Given the description of an element on the screen output the (x, y) to click on. 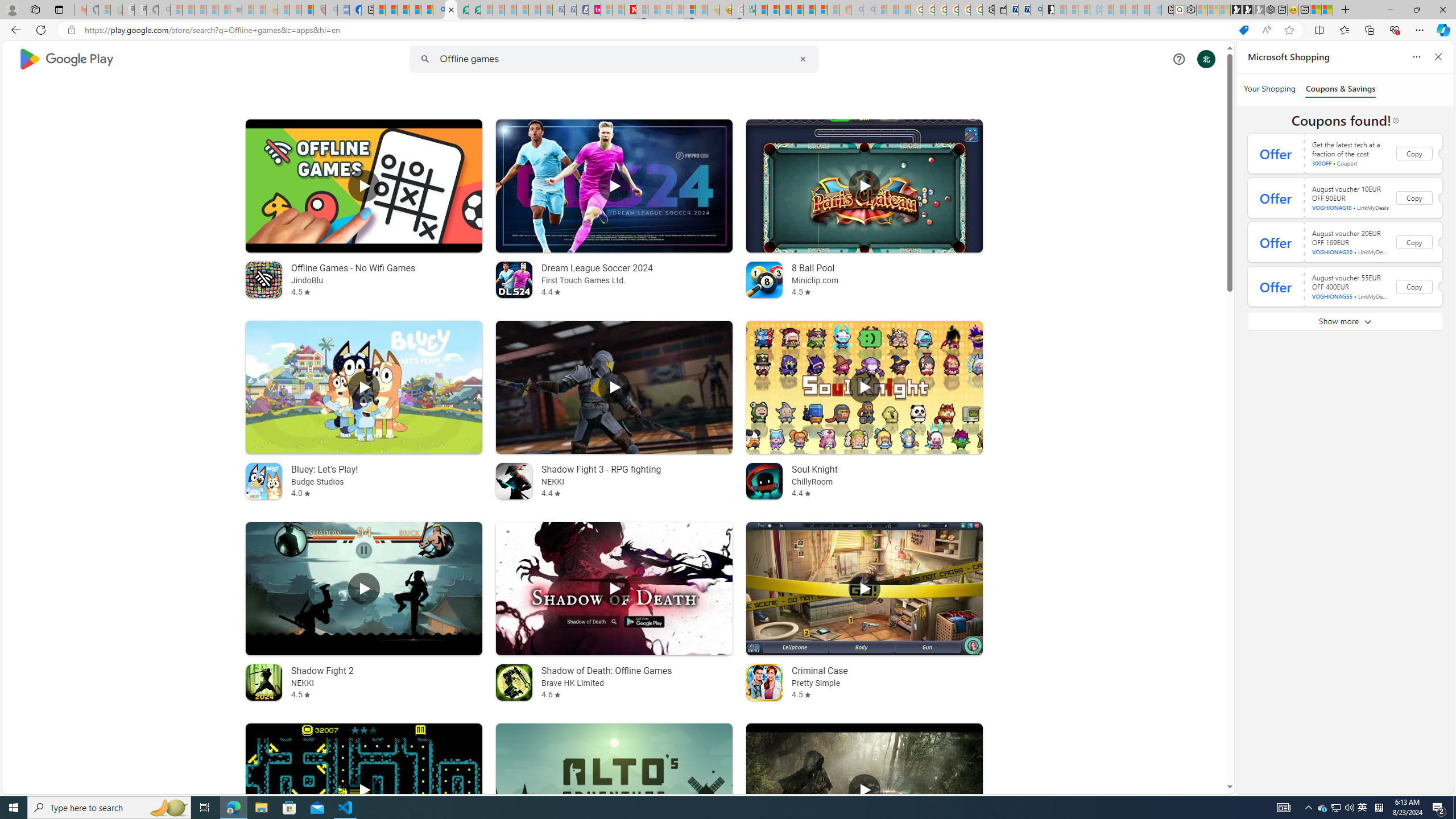
Offline games - Android Apps on Google Play (450, 9)
View site information (70, 29)
Microsoft account | Privacy - Sleeping (1083, 9)
Expert Portfolios (797, 9)
Cheap Hotels - Save70.com - Sleeping (569, 9)
Settings and more (Alt+F) (1419, 29)
Play Bluey: Let's Play! (363, 386)
Trusted Community Engagement and Contributions | Guidelines (641, 9)
Google Play logo (65, 58)
